Given the description of an element on the screen output the (x, y) to click on. 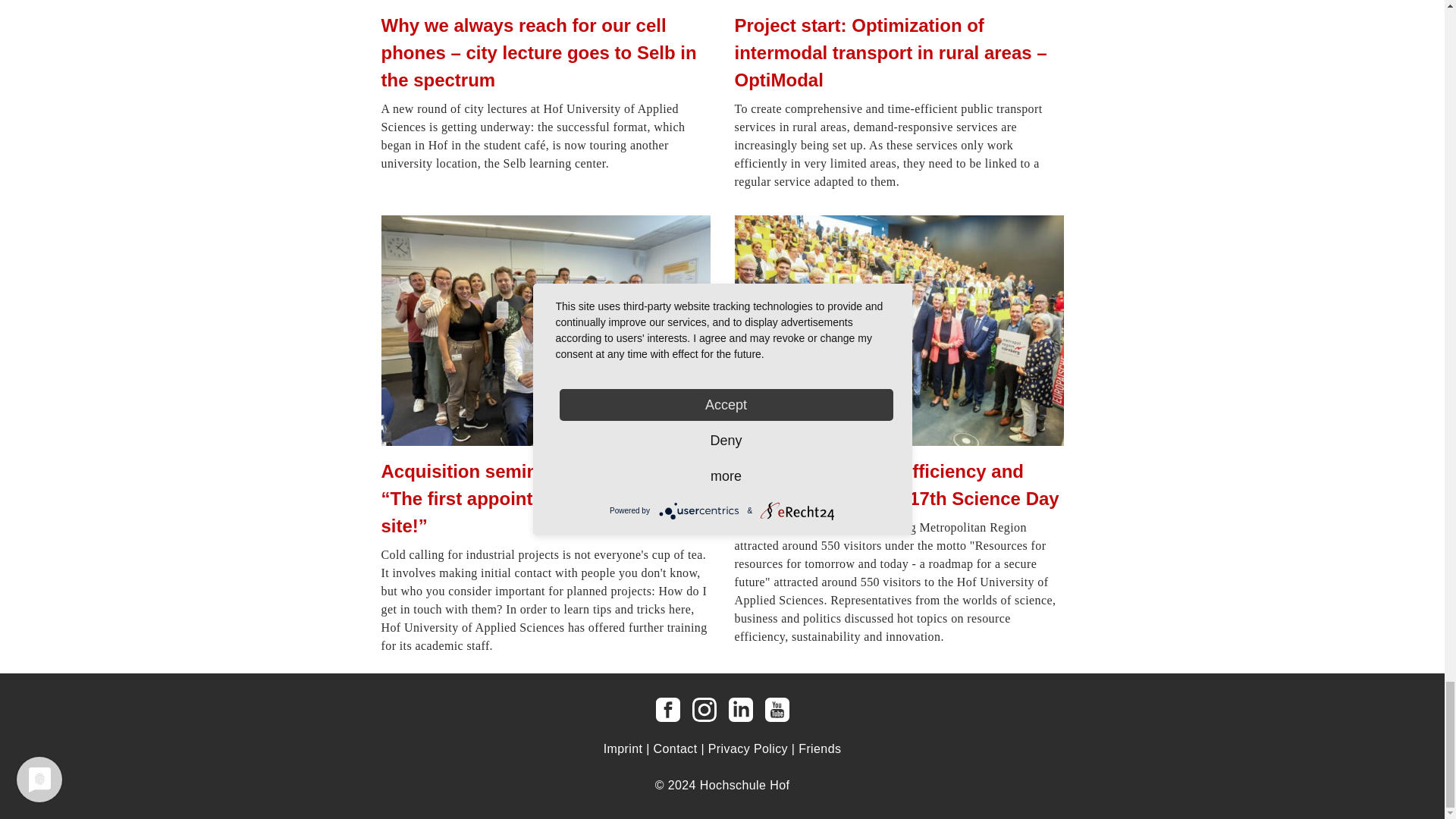
Imprint (623, 748)
Friends (819, 748)
Privacy Policy (747, 748)
Contact (675, 748)
